Given the description of an element on the screen output the (x, y) to click on. 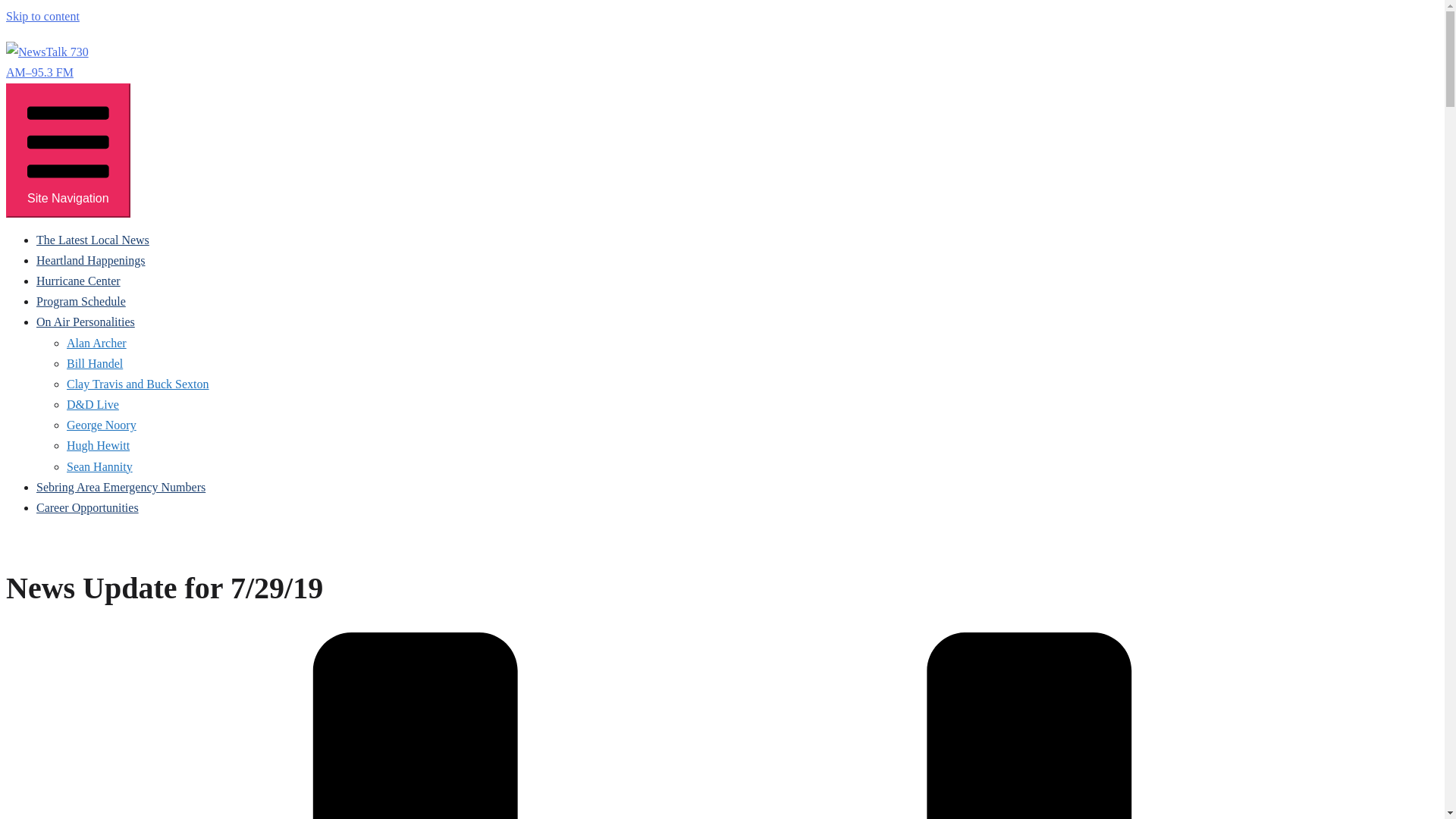
Sebring Area Emergency Numbers (120, 486)
Career Opportunities (87, 507)
Skip to content (42, 15)
Sean Hannity (99, 466)
The Latest Local News (92, 239)
On Air Personalities (85, 321)
Alan Archer (96, 342)
Program Schedule (80, 300)
Clay Travis and Buck Sexton (137, 383)
Hugh Hewitt (97, 445)
